Given the description of an element on the screen output the (x, y) to click on. 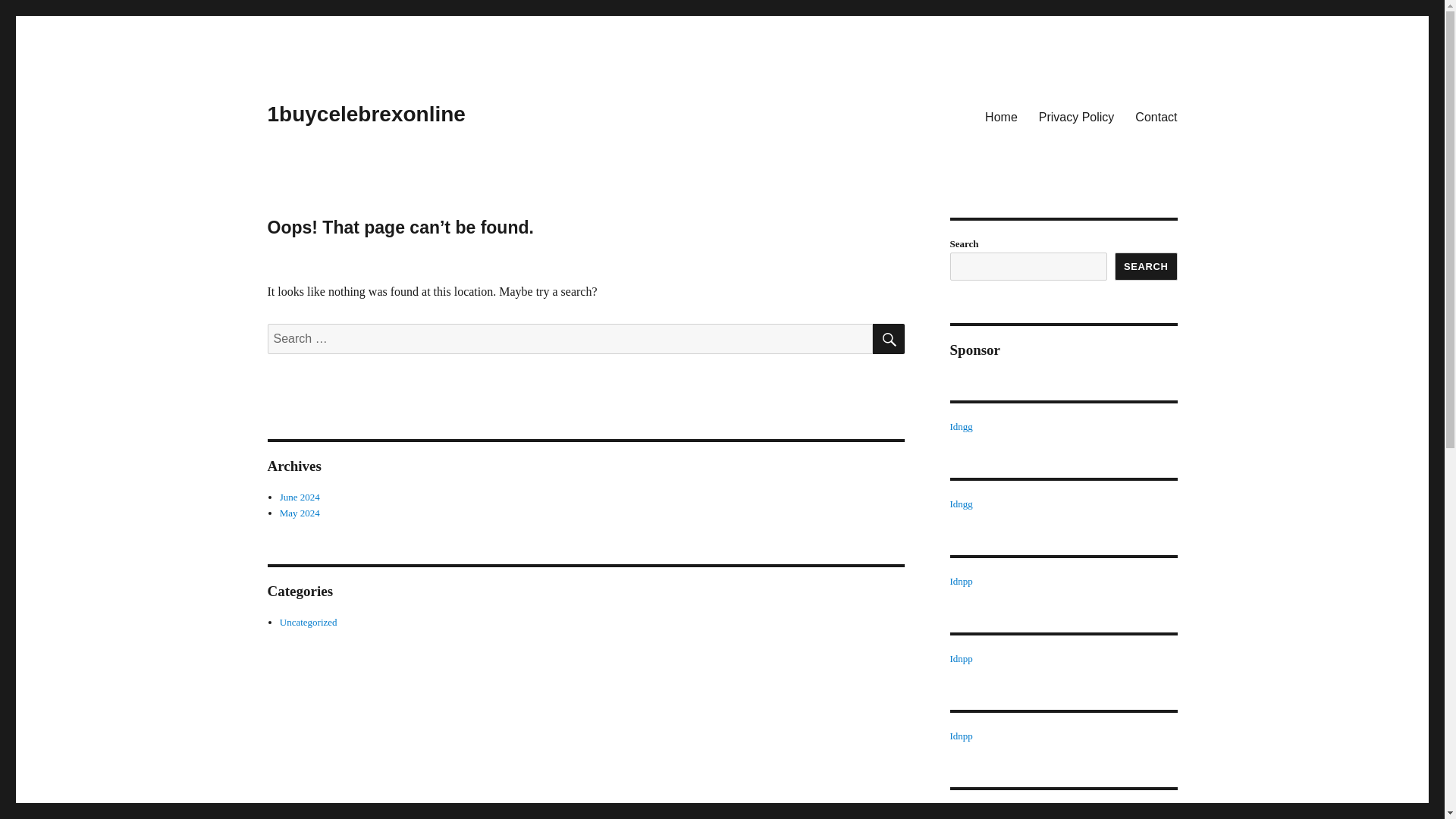
Idnpp (960, 813)
Privacy Policy (1076, 116)
Idnpp (960, 736)
SEARCH (888, 338)
June 2024 (299, 496)
SEARCH (1146, 266)
1buycelebrexonline (365, 114)
Idngg (960, 503)
Idnpp (960, 658)
Idnpp (960, 581)
Contact (1156, 116)
Home (1000, 116)
May 2024 (299, 512)
Uncategorized (308, 622)
Idngg (960, 426)
